Given the description of an element on the screen output the (x, y) to click on. 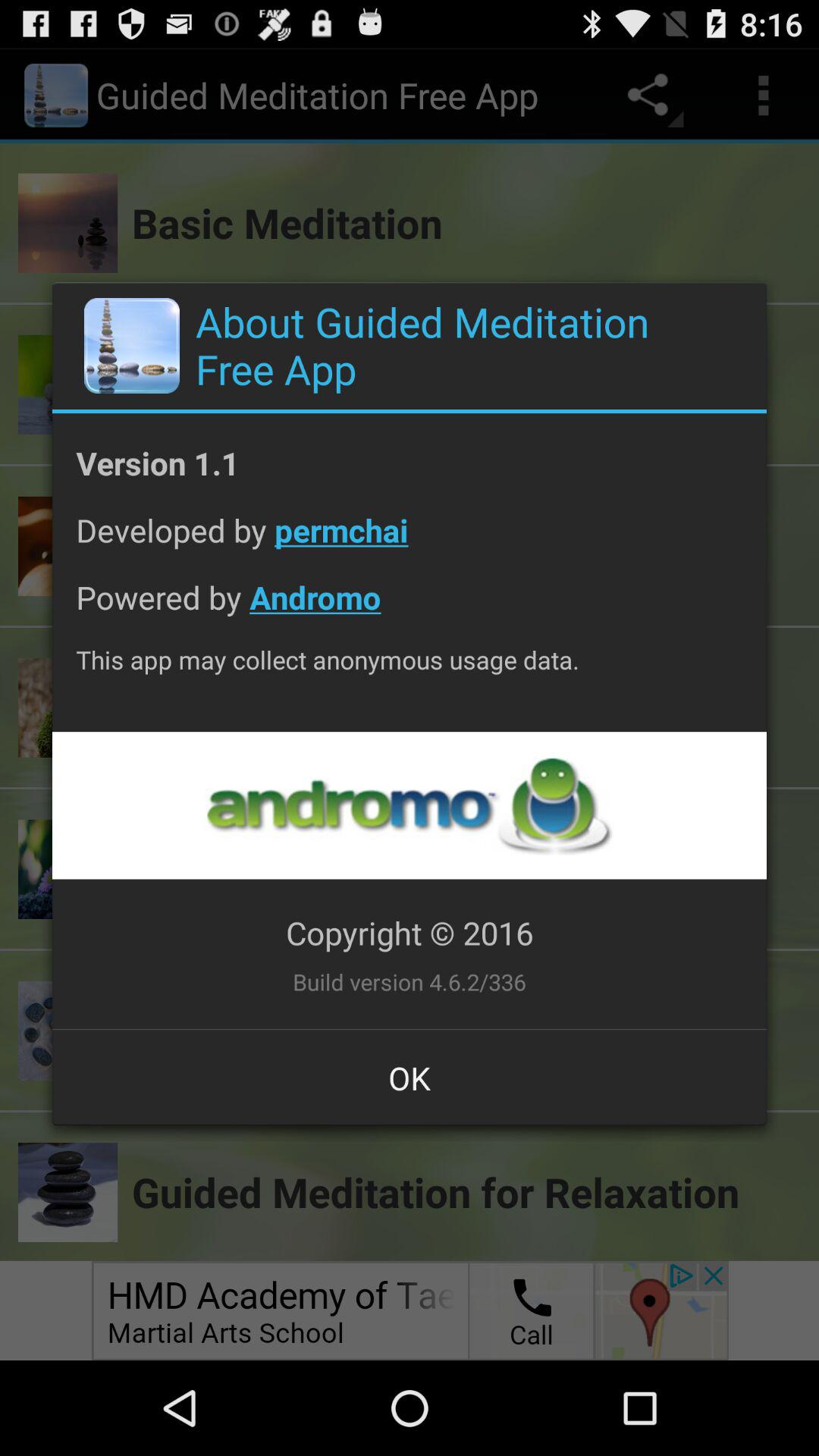
open up advertisement (408, 805)
